Given the description of an element on the screen output the (x, y) to click on. 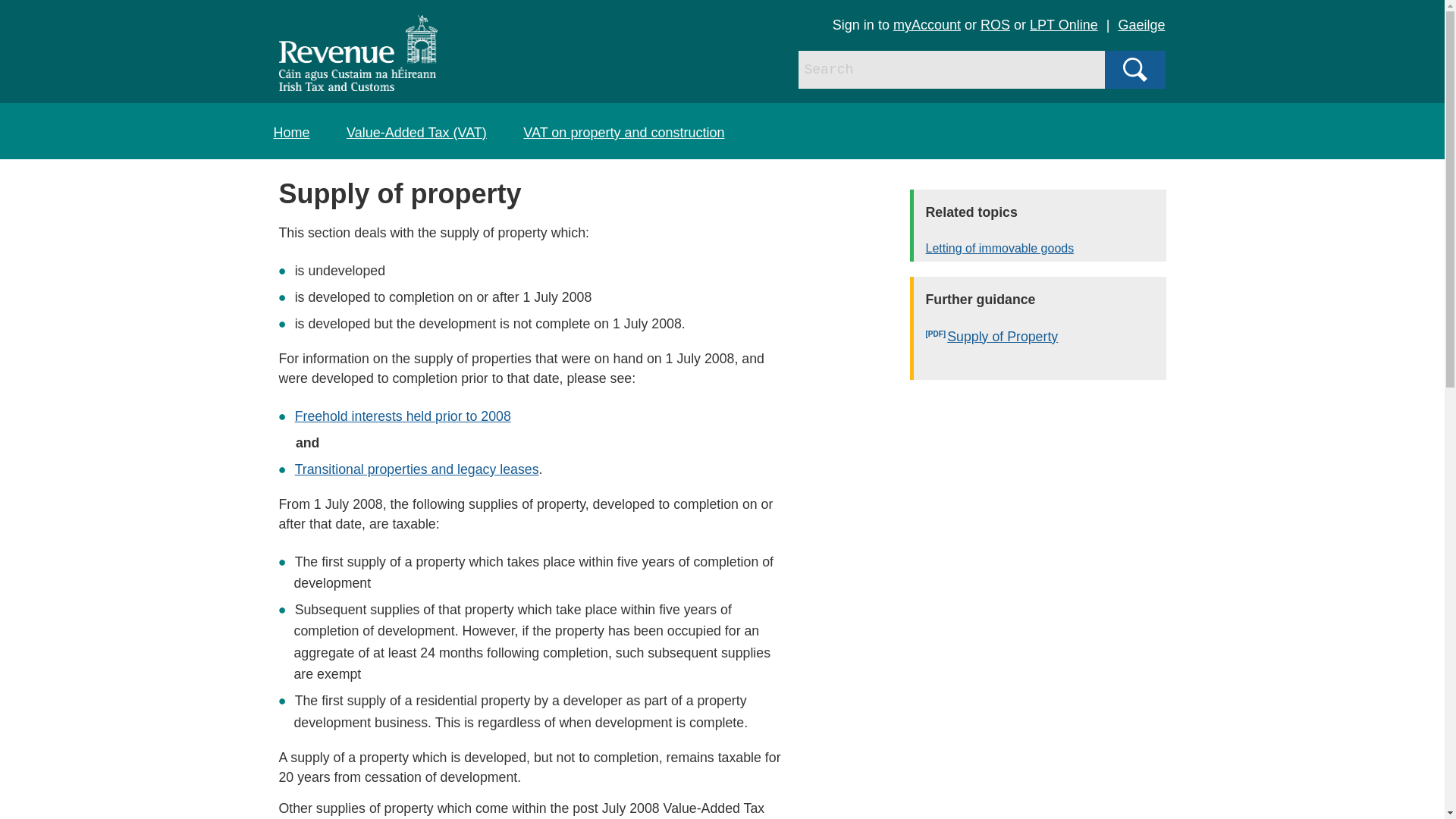
Gaeilge (1141, 24)
Transitional properties and legacy leases (416, 468)
Letting of immovable goods (1046, 248)
Home (290, 131)
Supply of Property (1046, 337)
Search (1133, 69)
ROS (994, 24)
Freehold interests held prior to 2008 (403, 416)
Letting of immovable goods (1046, 248)
Further guidance (1040, 299)
Supply of Property (1046, 337)
Go to VAT on property and construction from here (622, 131)
myAccount (926, 24)
Transitional measures applying to legacy leases (416, 468)
